Given the description of an element on the screen output the (x, y) to click on. 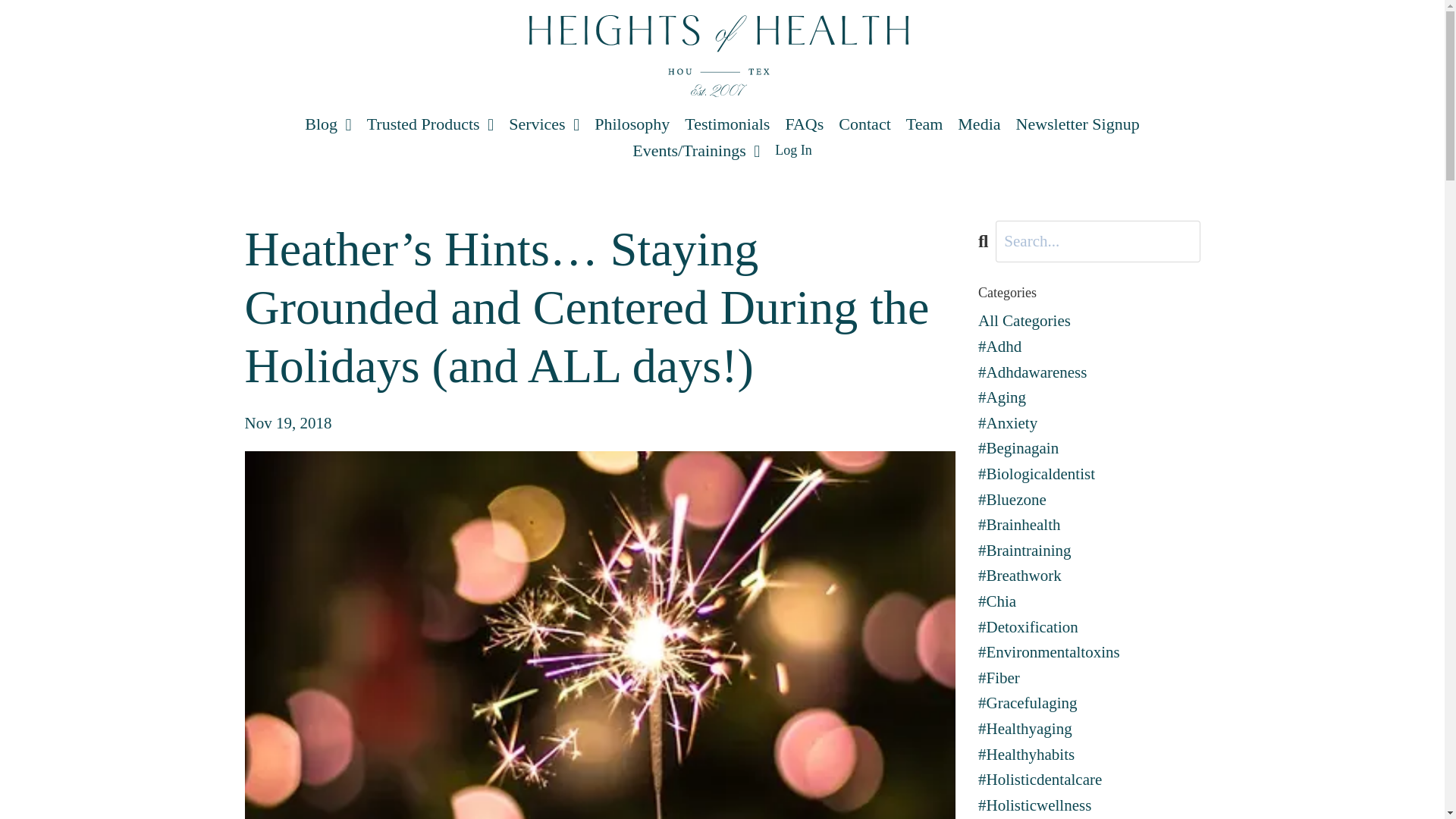
Blog (327, 123)
Log In (793, 150)
Trusted Products (429, 123)
Media (979, 123)
Team (924, 123)
FAQs (804, 123)
Services (543, 123)
Philosophy (631, 123)
Newsletter Signup (1078, 123)
Contact (863, 123)
Testimonials (727, 123)
